Given the description of an element on the screen output the (x, y) to click on. 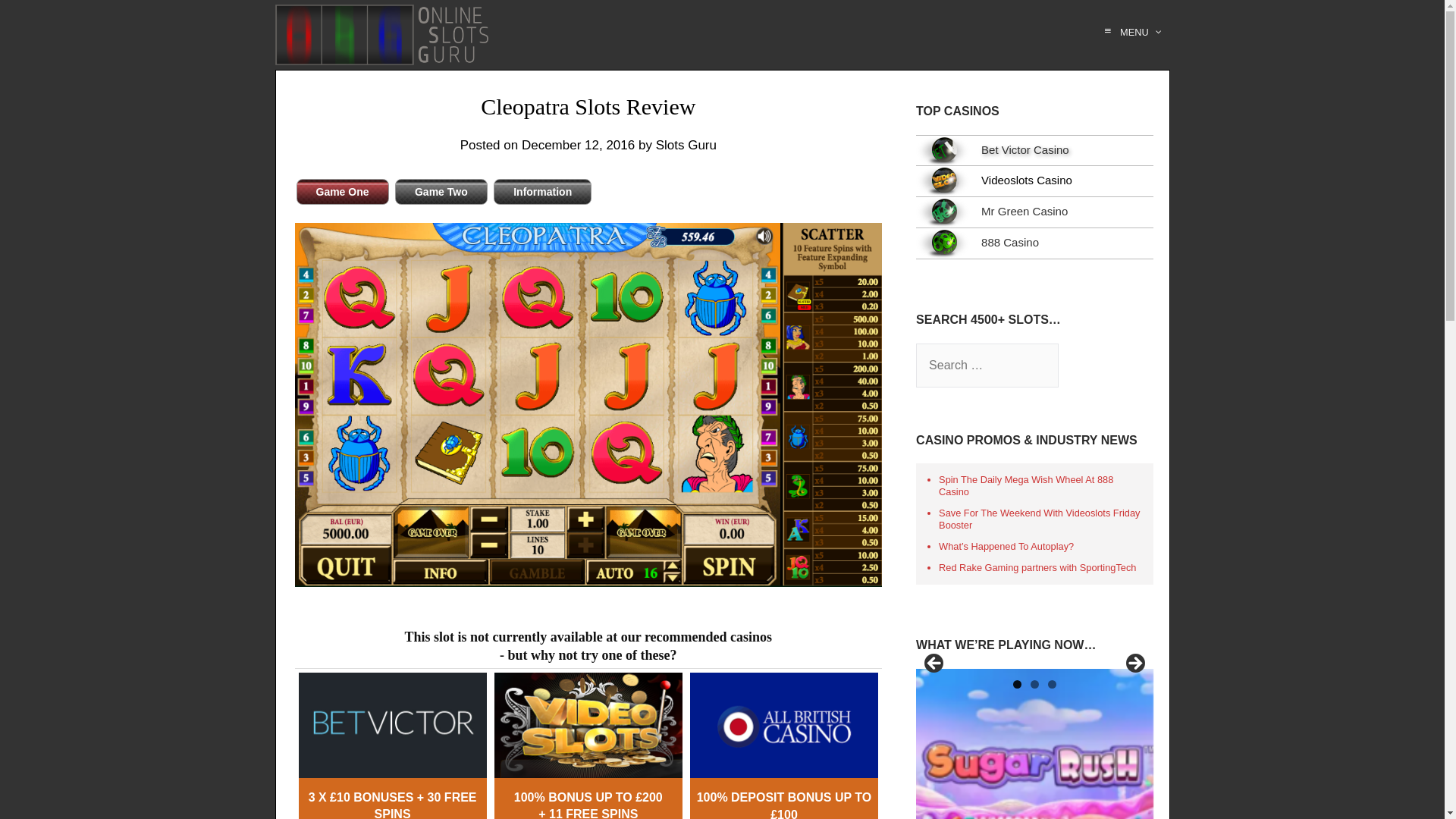
Information (542, 191)
sugar rush slider (1034, 744)
MENU (1130, 31)
Game One (341, 191)
Game Two (440, 191)
December 12, 2016 (577, 145)
Slots Guru (686, 145)
